Given the description of an element on the screen output the (x, y) to click on. 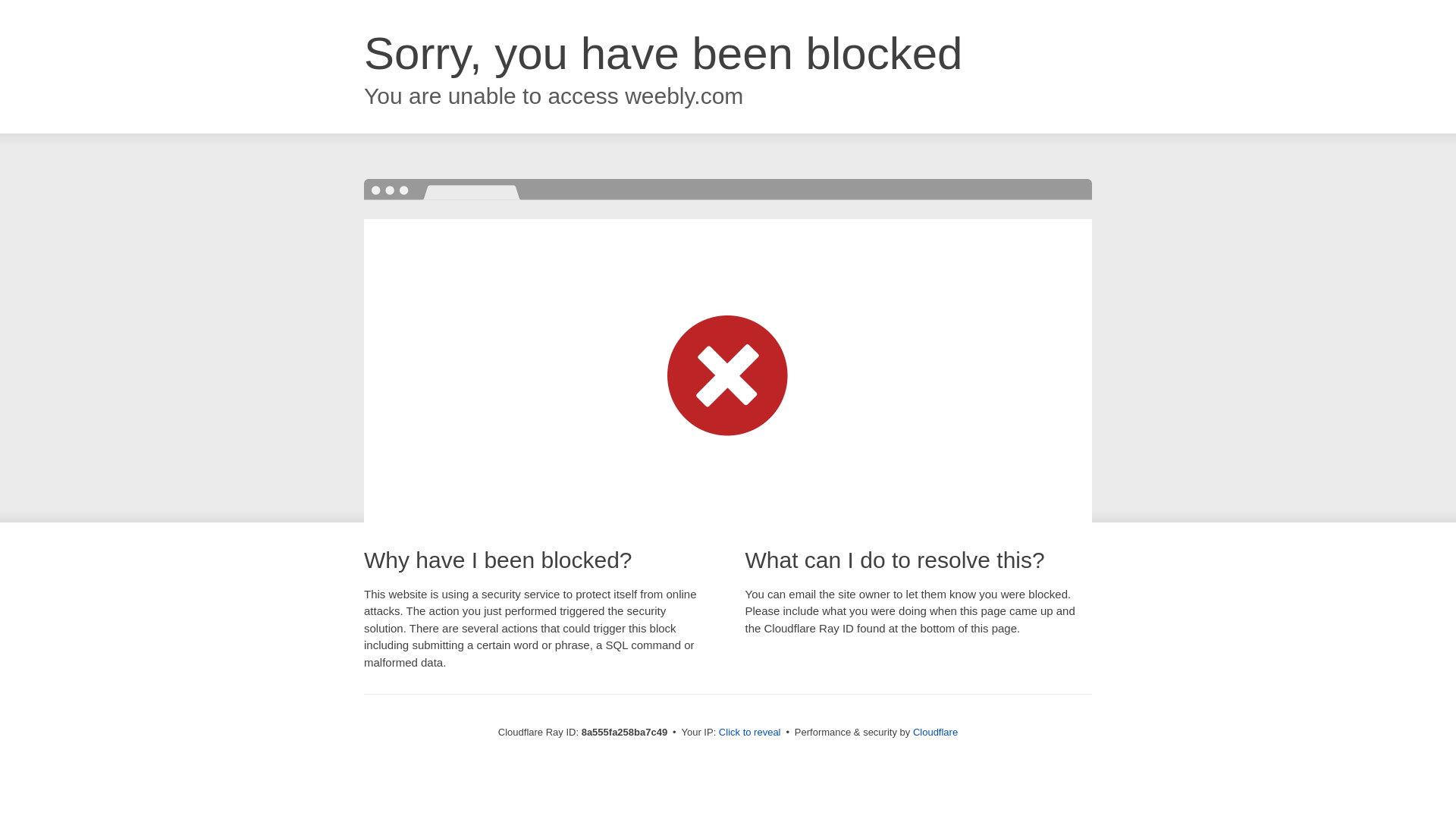
Click to reveal (749, 732)
Cloudflare (935, 731)
